Given the description of an element on the screen output the (x, y) to click on. 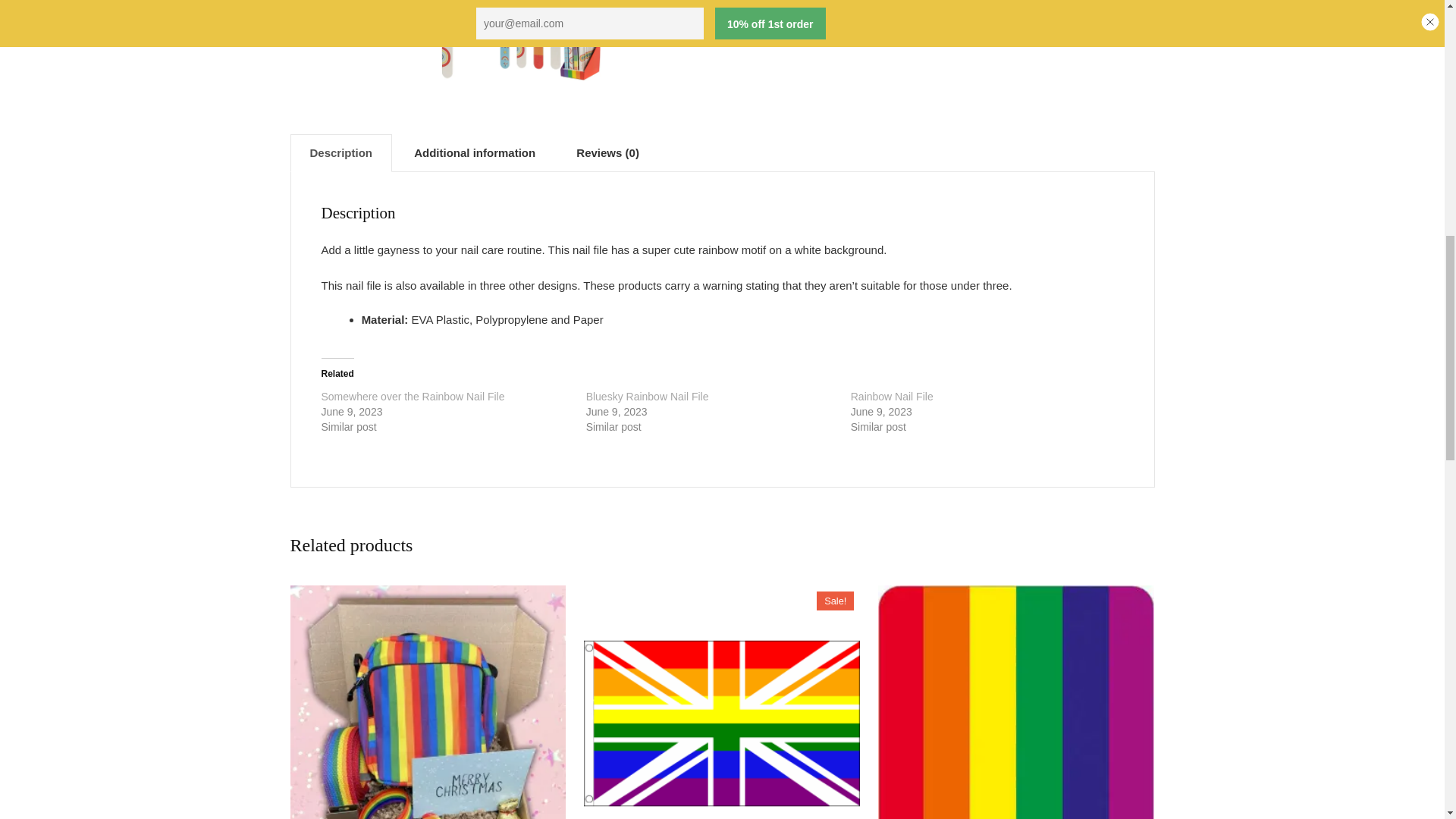
Somewhere over the Rainbow Nail File (413, 396)
Rainbow Nail File (891, 396)
Bluesky Rainbow Nail File (647, 396)
